Given the description of an element on the screen output the (x, y) to click on. 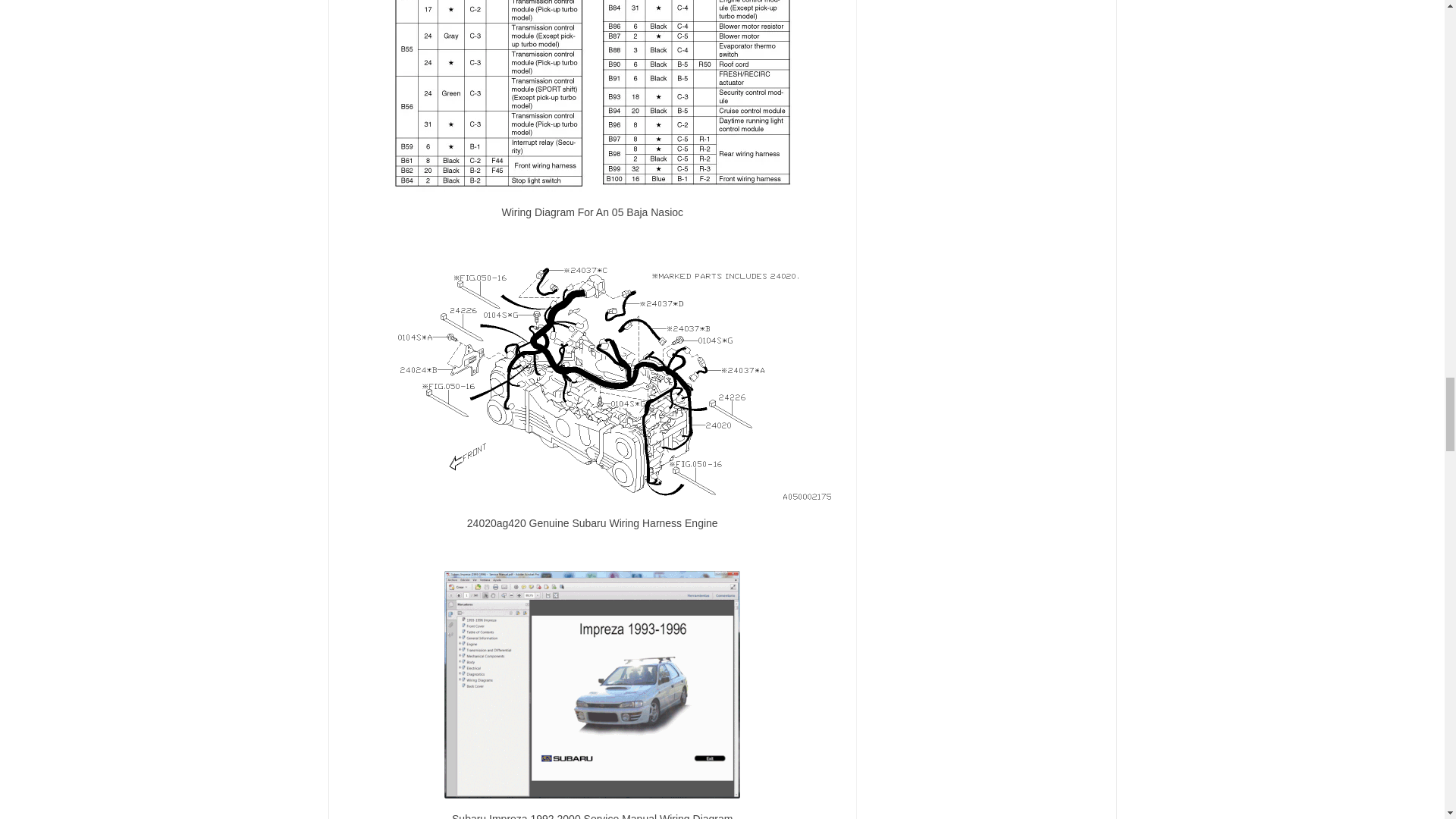
24020ag420 Genuine Subaru Wiring Harness Engine (591, 381)
Wiring Diagram For An 05 Baja Nasioc (592, 95)
Subaru Impreza 1992 2000 Service Manual Wiring Diagram (591, 684)
